Given the description of an element on the screen output the (x, y) to click on. 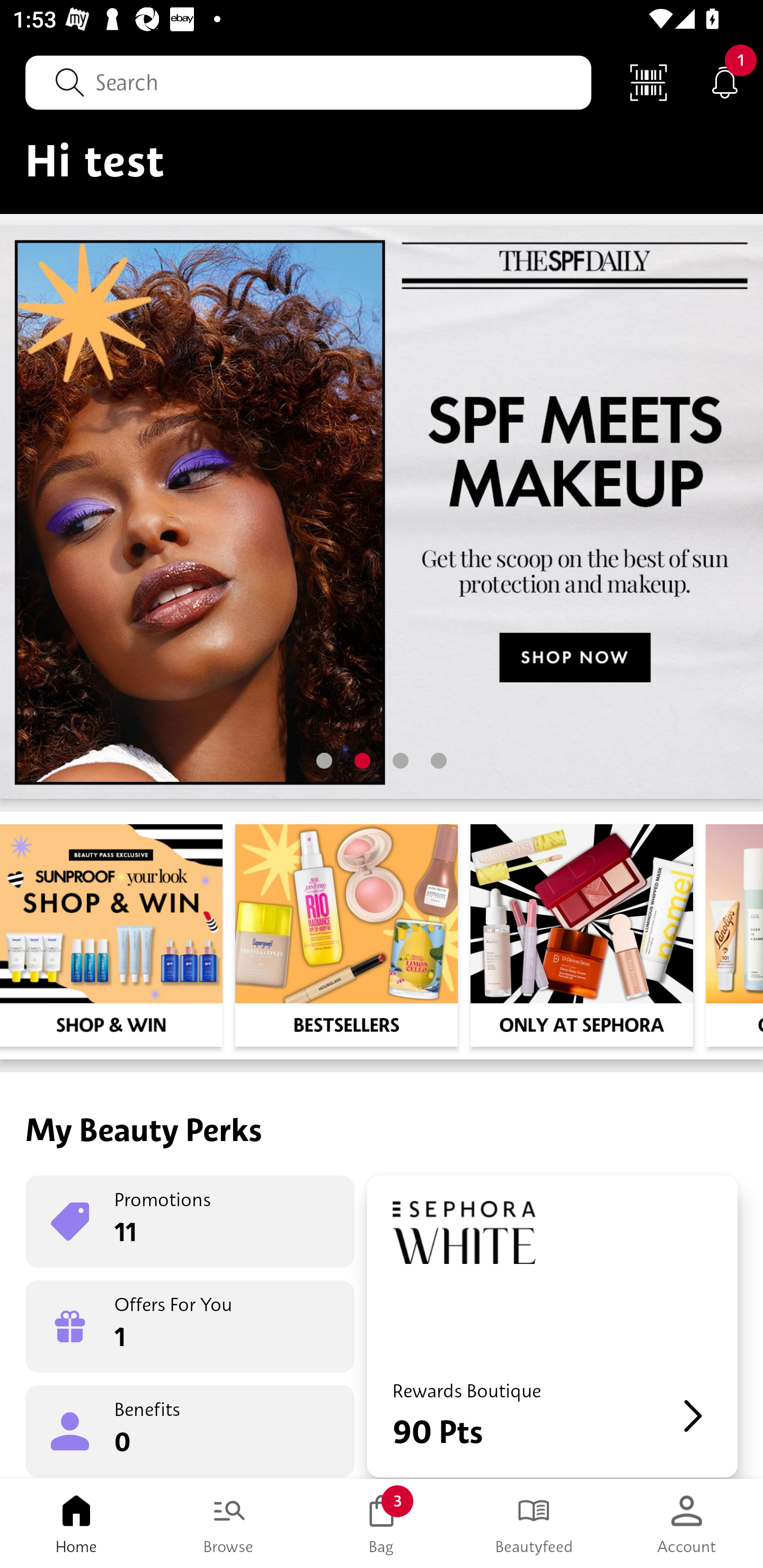
Scan Code (648, 81)
Notifications (724, 81)
Search (308, 81)
Promotions 11 (189, 1221)
Rewards Boutique 90 Pts (552, 1326)
Offers For You 1 (189, 1326)
Benefits 0 (189, 1430)
Browse (228, 1523)
Bag 3 Bag (381, 1523)
Beautyfeed (533, 1523)
Account (686, 1523)
